Given the description of an element on the screen output the (x, y) to click on. 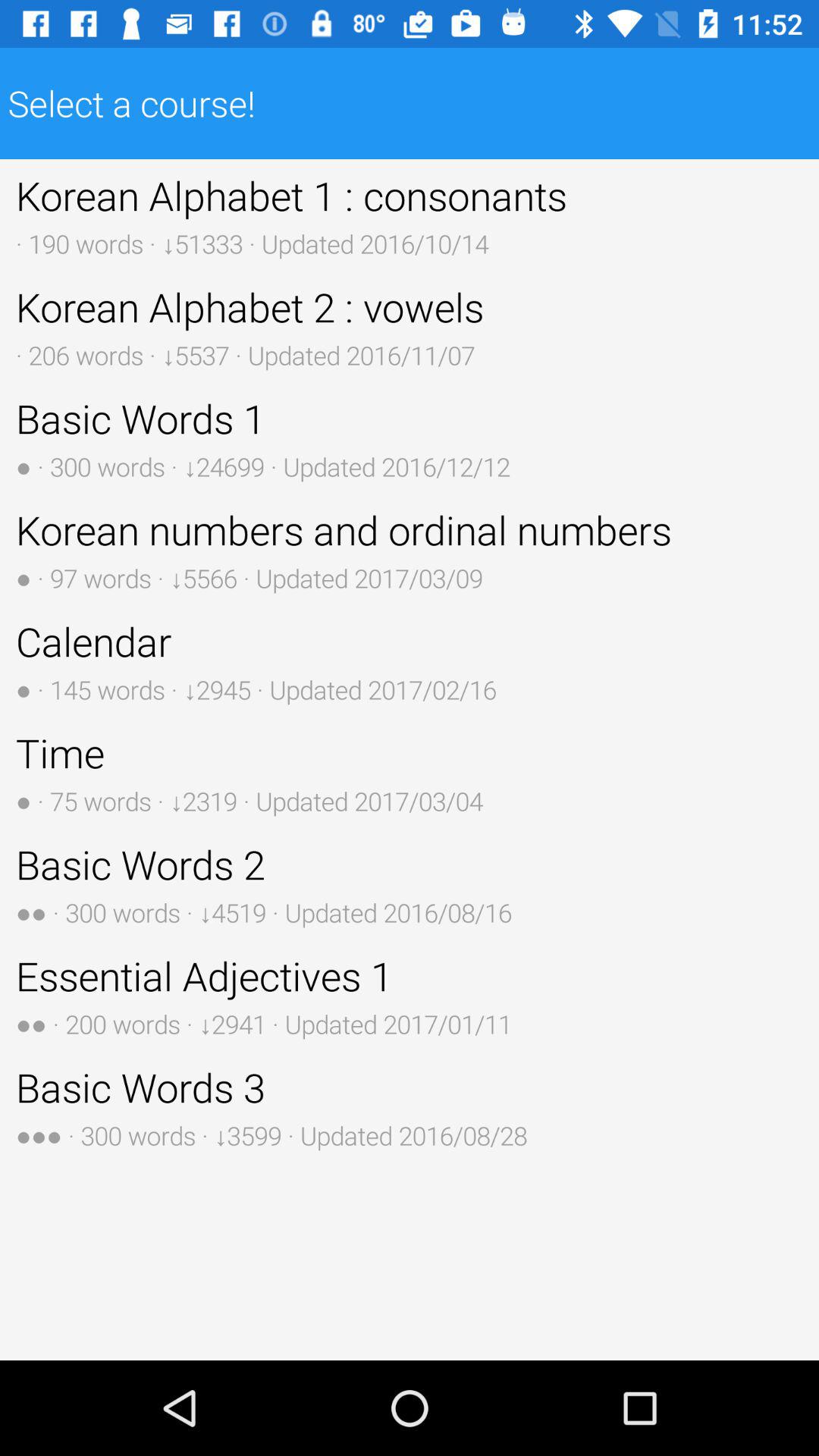
turn on item above basic words 2 item (409, 772)
